Given the description of an element on the screen output the (x, y) to click on. 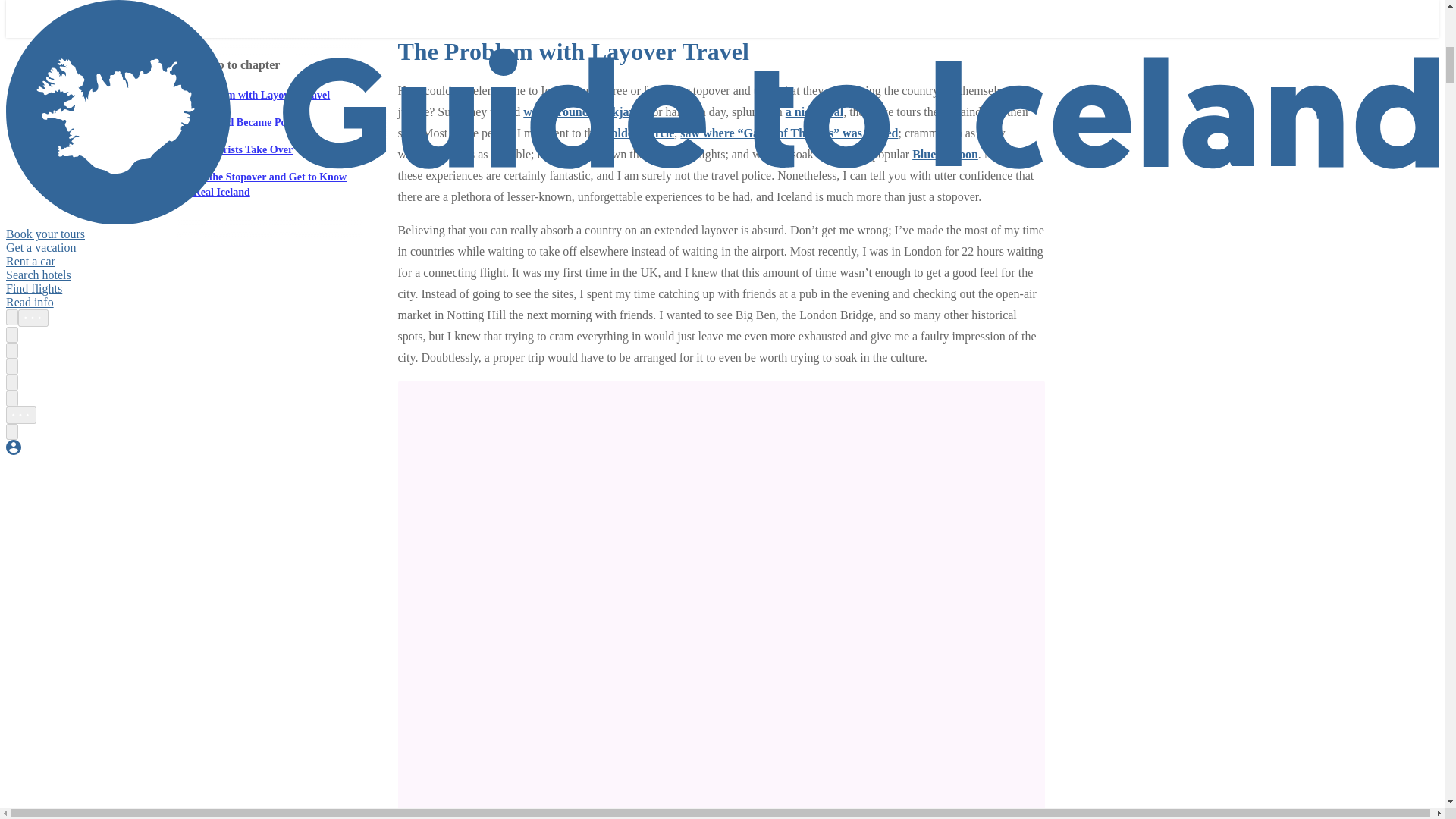
Golden Circle (638, 132)
walk around Reykjavik (583, 111)
Blue Lagoon (945, 154)
a nice meal (814, 111)
Gulfoss Waterfalls in the Golden Circle, Iceland (520, 2)
